Given the description of an element on the screen output the (x, y) to click on. 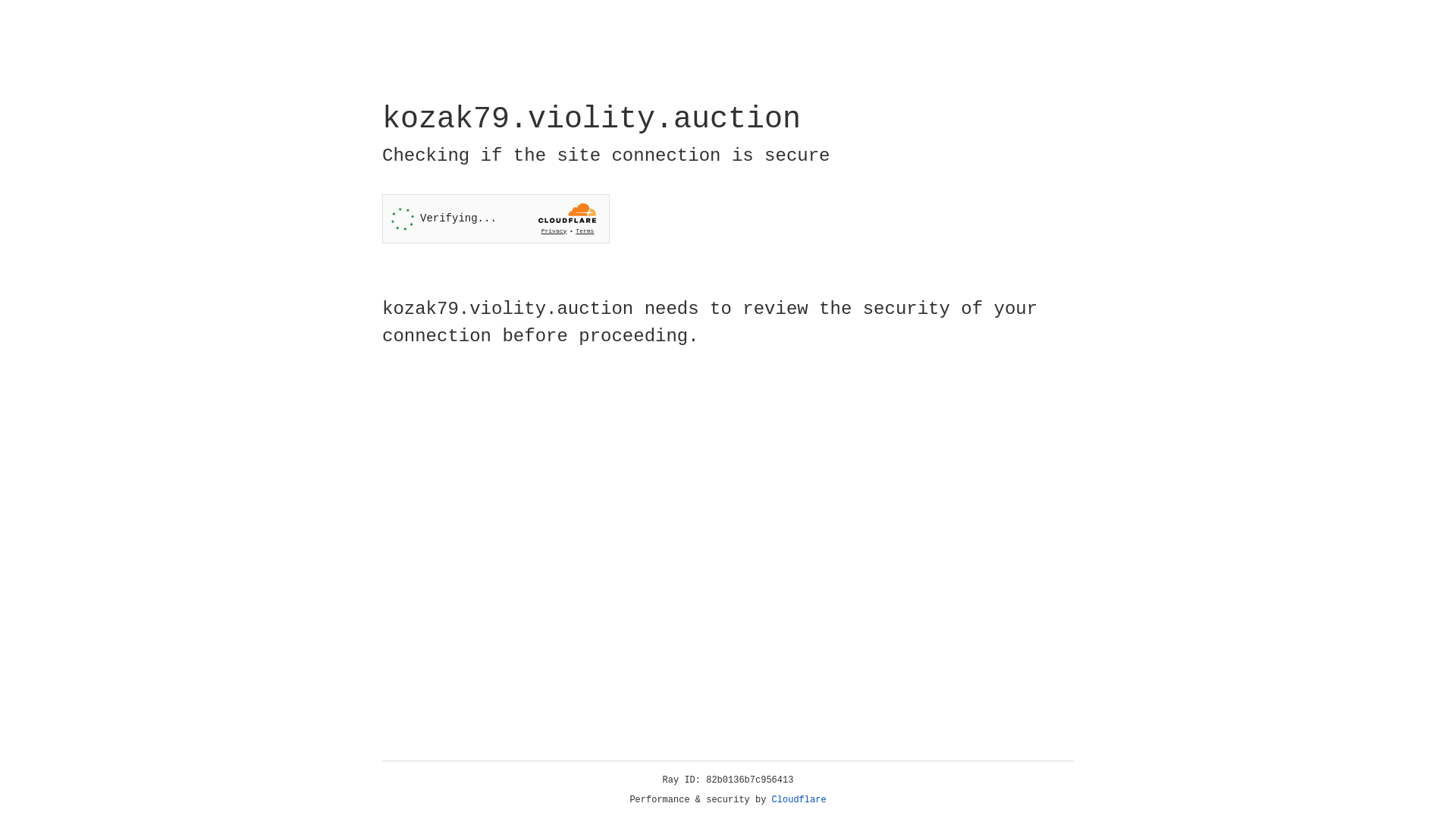
Widget containing a Cloudflare security challenge Element type: hover (495, 218)
Cloudflare Element type: text (798, 799)
